Given the description of an element on the screen output the (x, y) to click on. 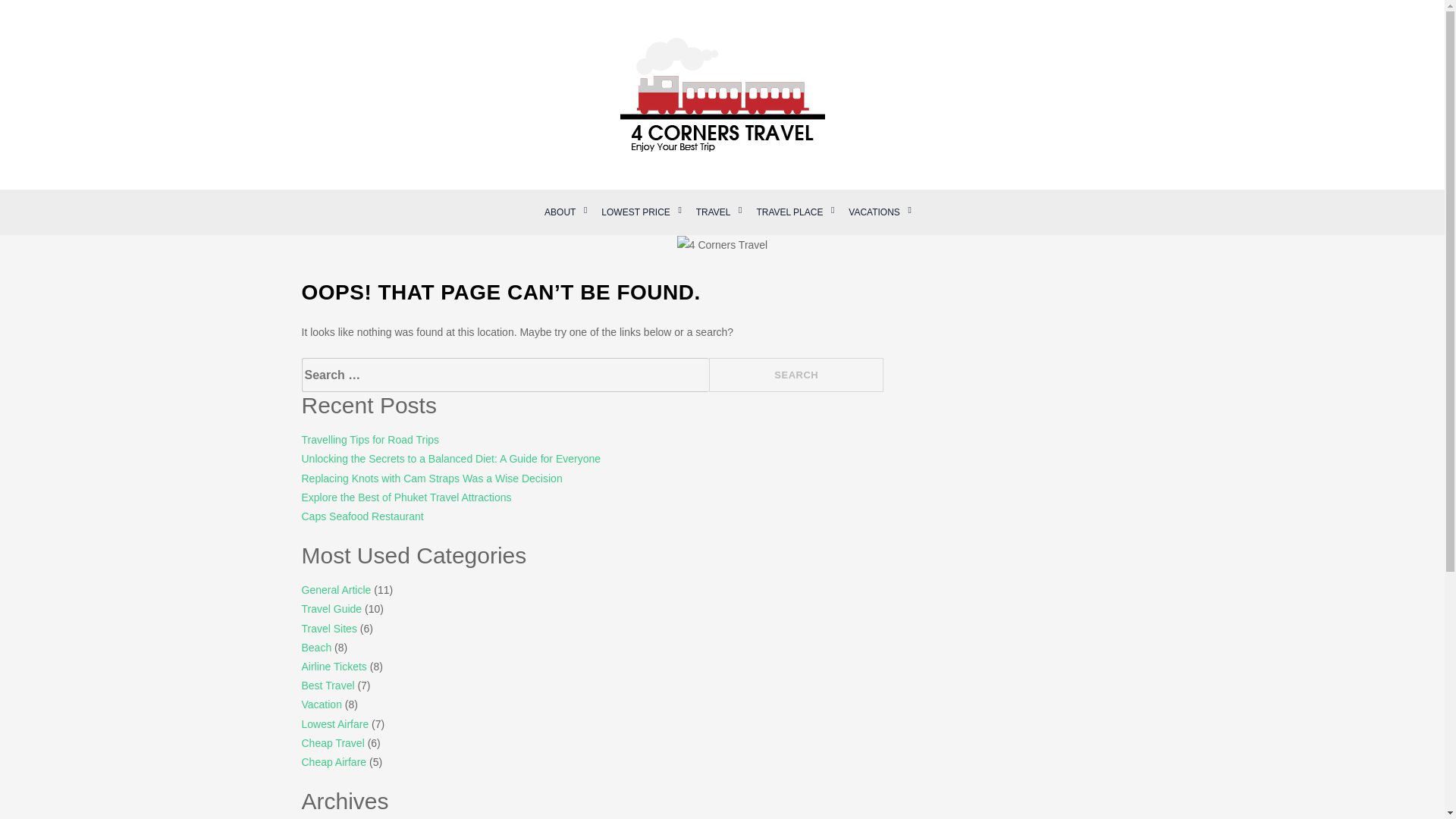
Search (796, 374)
Search (796, 374)
Caps Seafood Restaurant (362, 516)
ABOUT (559, 212)
Search (796, 374)
LOWEST PRICE (635, 212)
Travel Guide (331, 608)
Travelling Tips for Road Trips (370, 439)
Replacing Knots with Cam Straps Was a Wise Decision (431, 478)
Explore the Best of Phuket Travel Attractions (406, 497)
4 Corners Travel (426, 171)
TRAVEL PLACE (789, 212)
TRAVEL (713, 212)
General Article (336, 589)
